Given the description of an element on the screen output the (x, y) to click on. 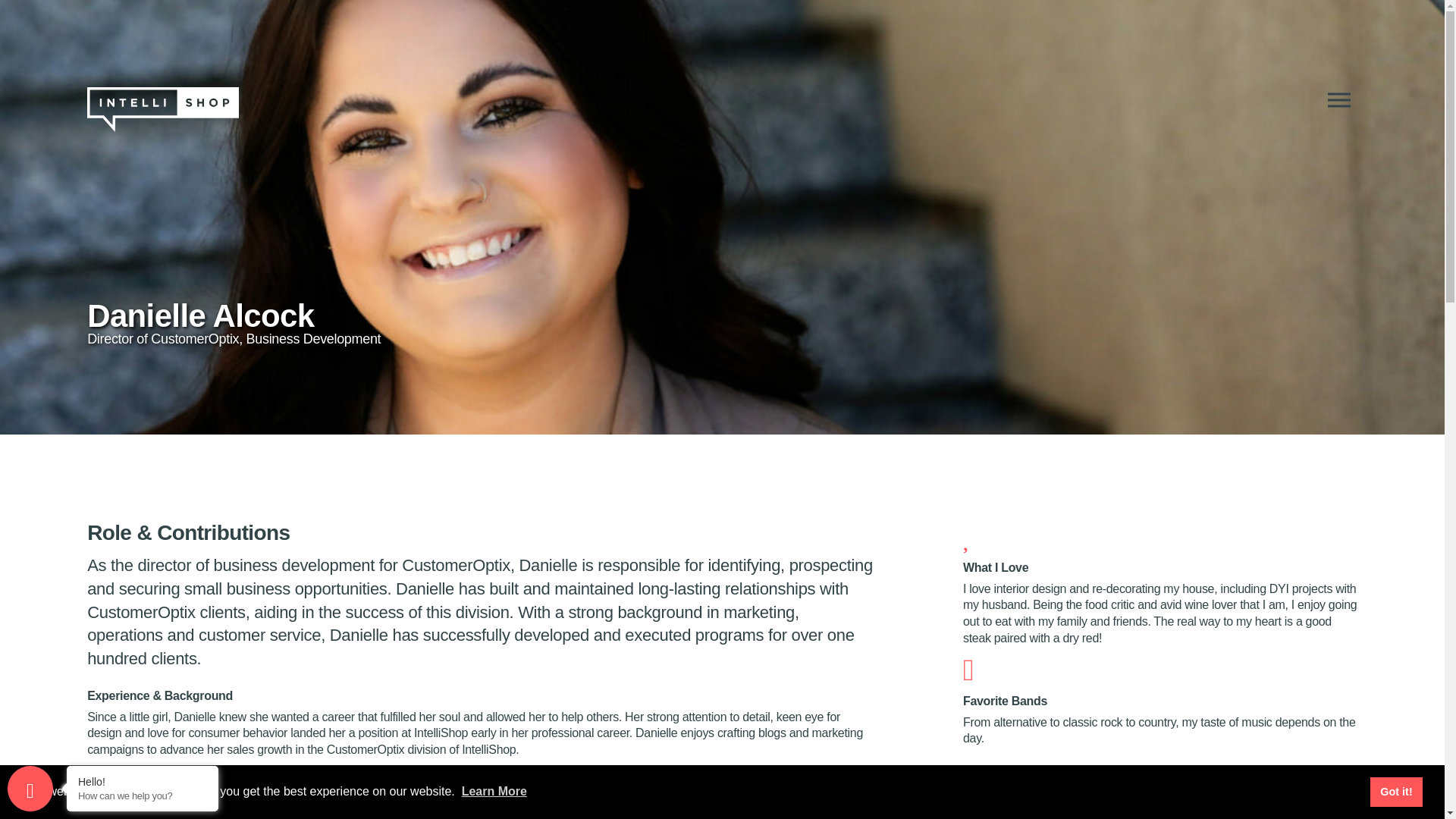
Menu (1338, 99)
Got it! (1396, 791)
Hello! (142, 781)
Learn More (494, 790)
How can we help you? (142, 795)
